Given the description of an element on the screen output the (x, y) to click on. 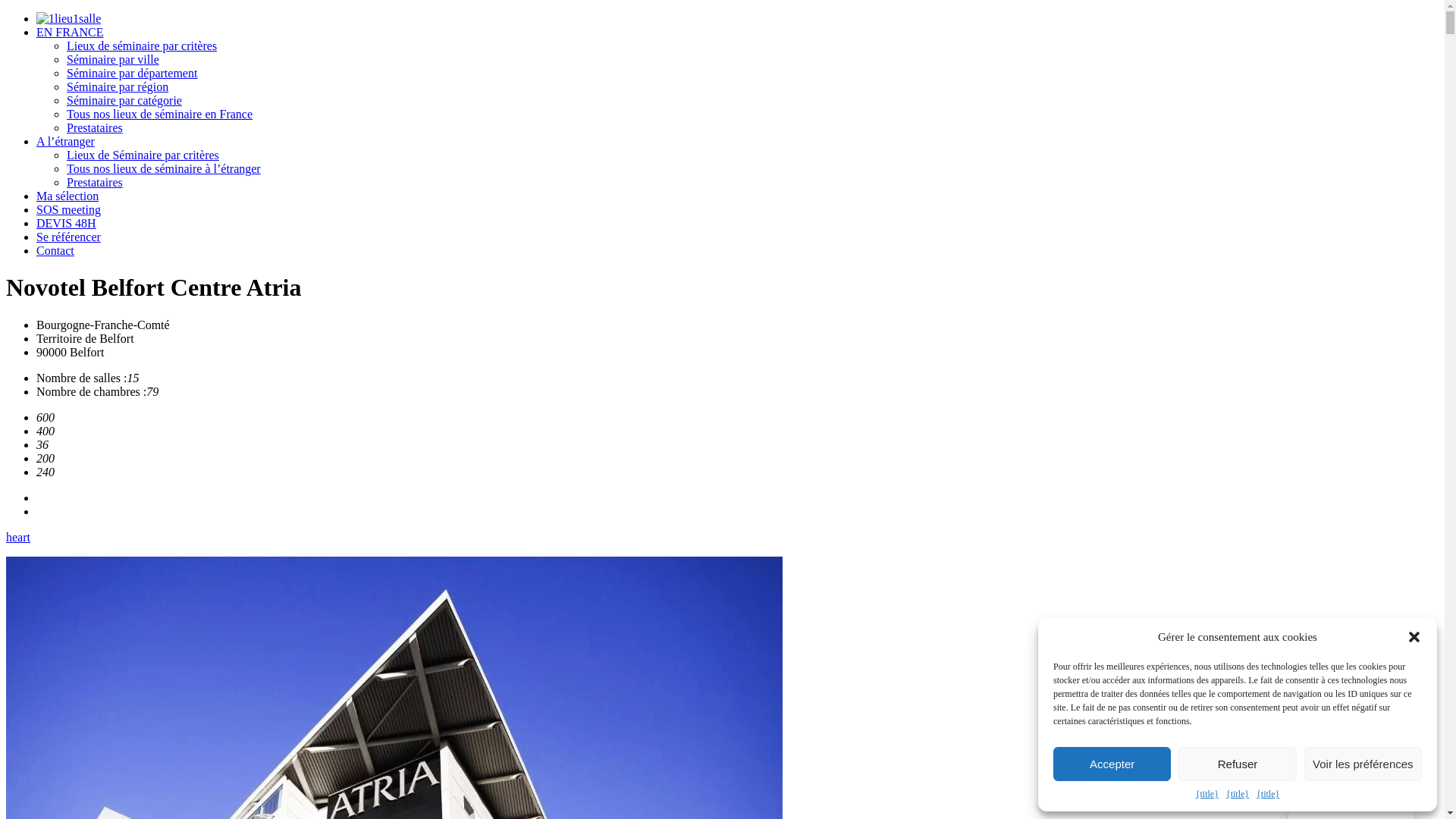
heart Element type: text (18, 536)
Prestataires Element type: text (94, 127)
Accepter Element type: text (1111, 763)
Prestataires Element type: text (94, 181)
DEVIS 48H Element type: text (66, 222)
Politique de cookies Element type: text (1164, 794)
Contact Element type: text (55, 250)
EN FRANCE Element type: text (69, 31)
Refuser Element type: text (1236, 763)
SOS meeting Element type: text (68, 209)
